Given the description of an element on the screen output the (x, y) to click on. 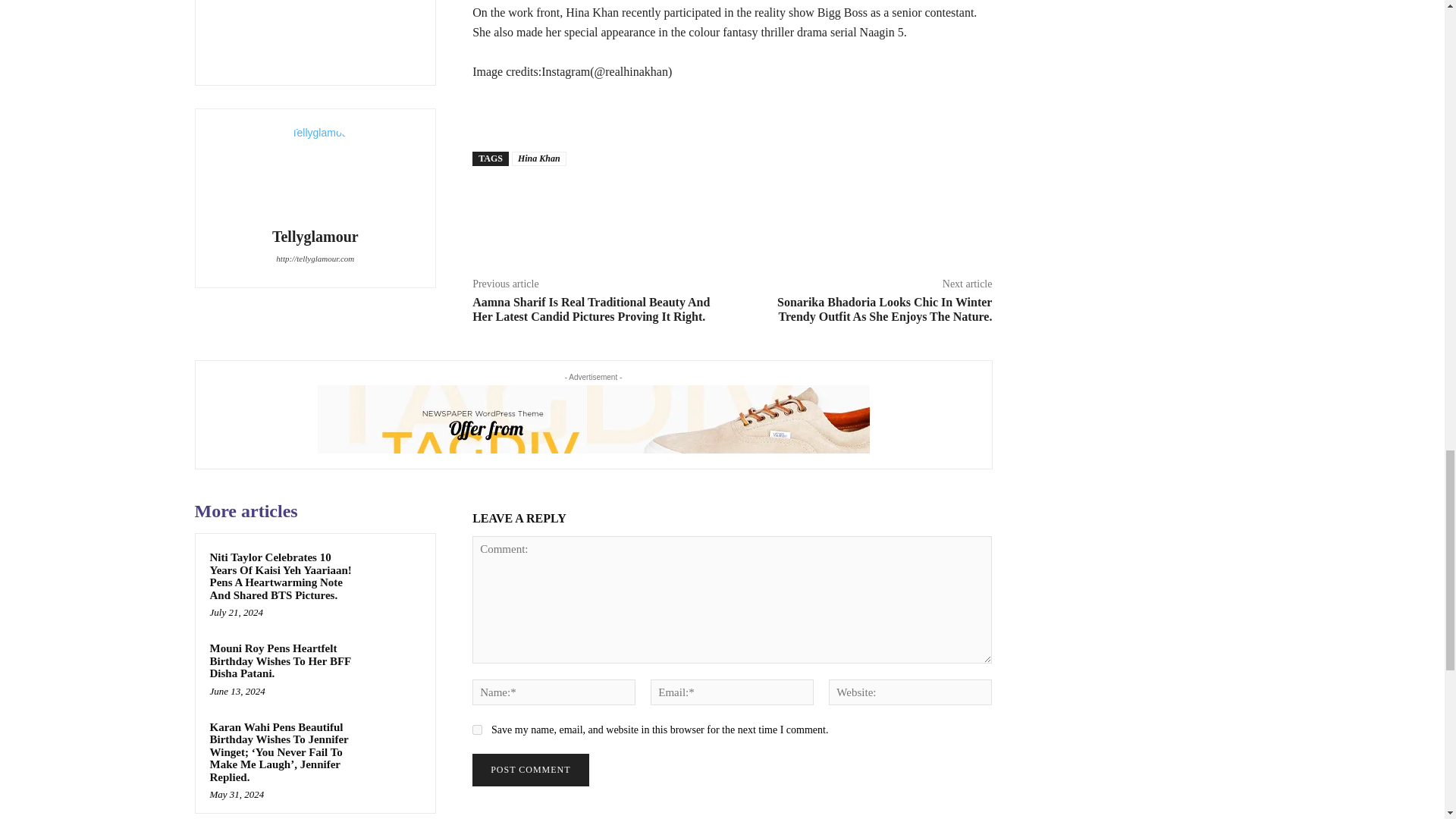
Post Comment (529, 769)
yes (476, 729)
